Given the description of an element on the screen output the (x, y) to click on. 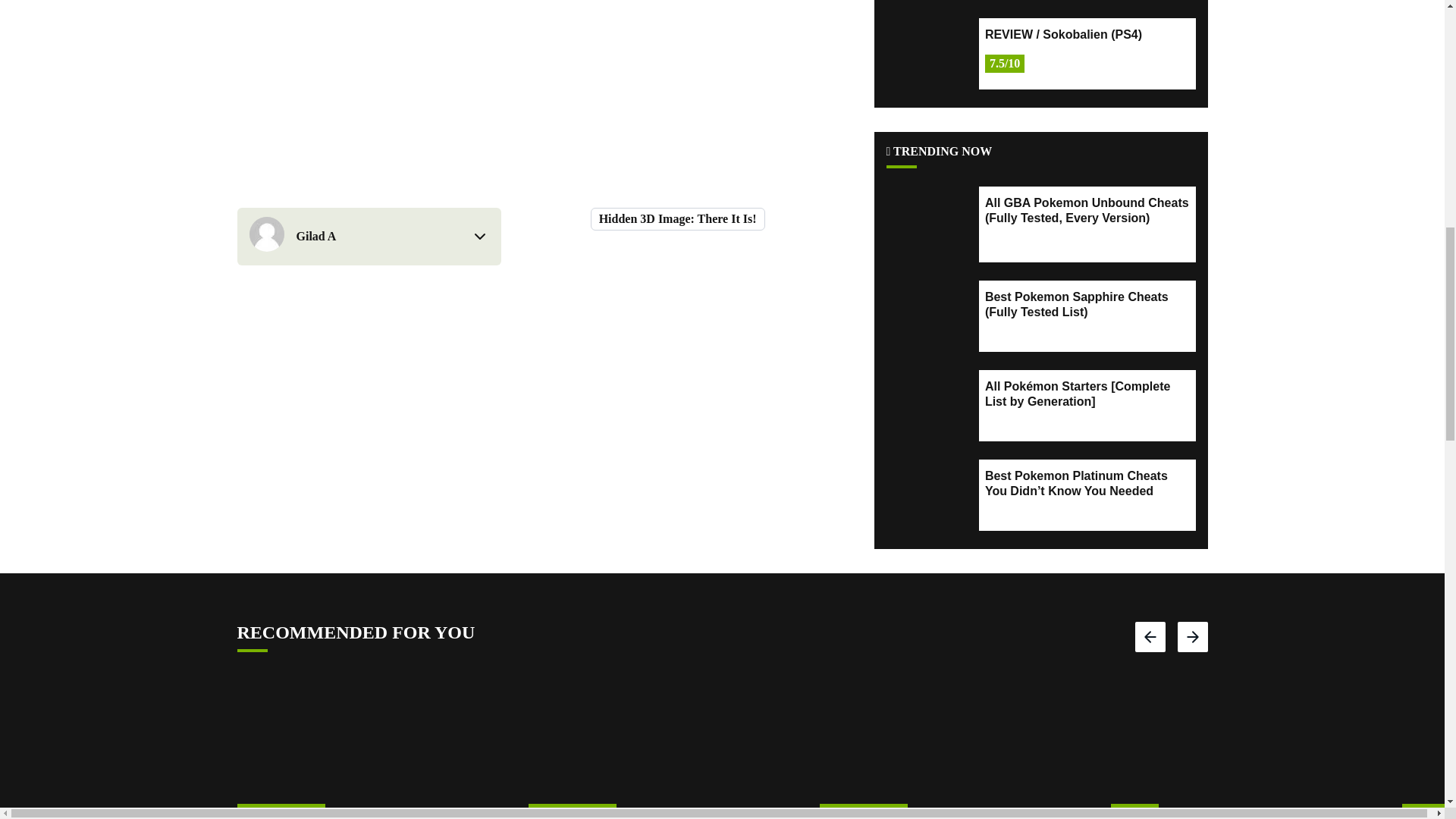
Scroll back to top (1406, 708)
